Given the description of an element on the screen output the (x, y) to click on. 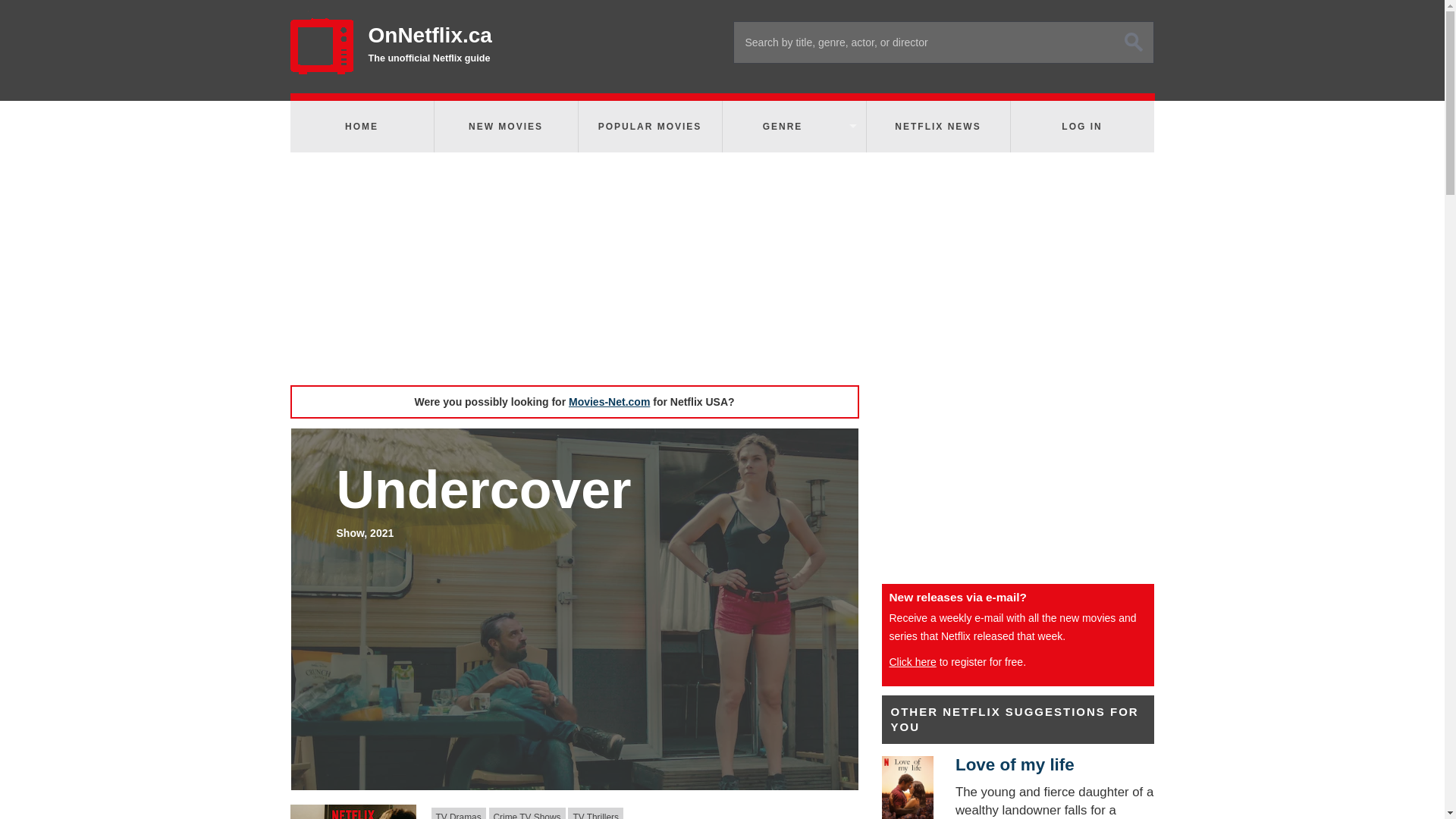
TV Thrillers (595, 813)
NEW MOVIES (504, 126)
LOG IN (1081, 126)
Movies-Net.com (609, 401)
Crime TV Shows (527, 813)
POPULAR MOVIES (649, 126)
TV Dramas (457, 813)
GENRE (793, 126)
HOME (360, 126)
NETFLIX NEWS (937, 126)
